Given the description of an element on the screen output the (x, y) to click on. 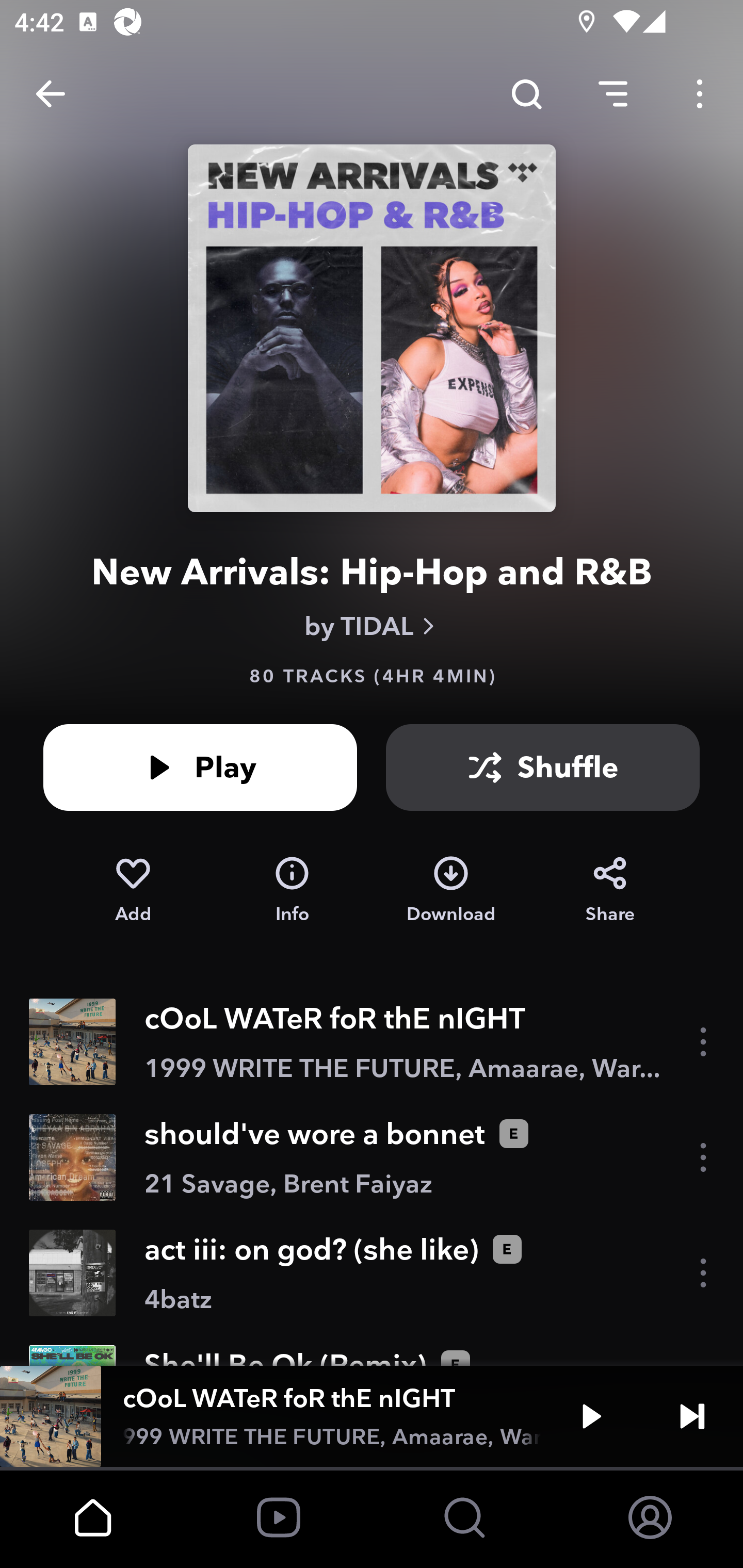
Back (50, 93)
Search (525, 93)
Sorting (612, 93)
Options (699, 93)
by TIDAL (371, 625)
Play (200, 767)
Shuffle (542, 767)
Add (132, 890)
Info (291, 890)
Download (450, 890)
Share (609, 890)
should've wore a bonnet 21 Savage, Brent Faiyaz (371, 1157)
act iii: on god? (she like) 4batz (371, 1273)
Play (590, 1416)
